Given the description of an element on the screen output the (x, y) to click on. 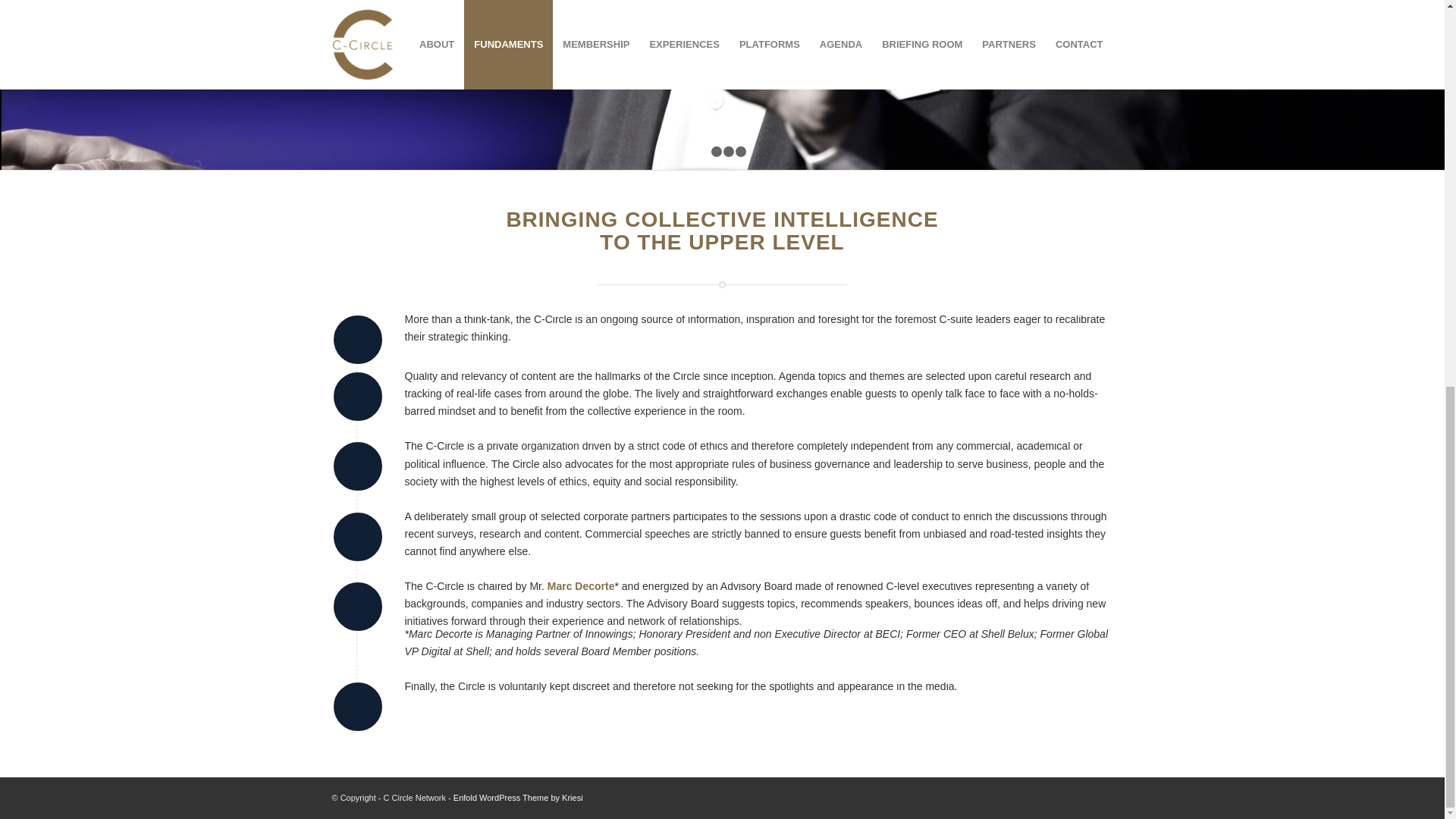
3 (728, 151)
1 (704, 151)
4 (740, 151)
2 (716, 151)
Enfold WordPress Theme by Kriesi (517, 797)
